Given the description of an element on the screen output the (x, y) to click on. 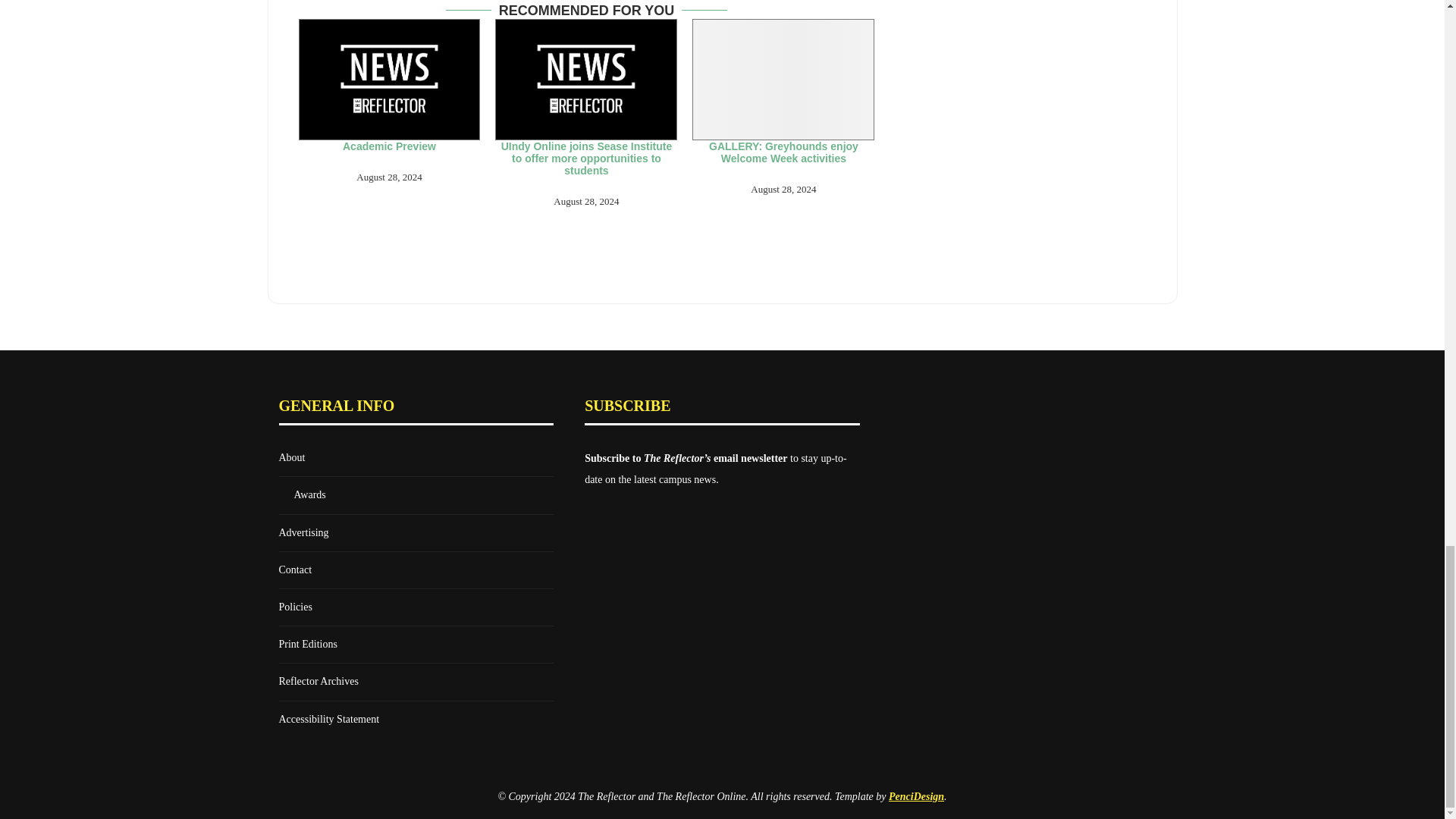
Academic Preview (389, 79)
GALLERY: Greyhounds enjoy Welcome Week activities (784, 79)
